Given the description of an element on the screen output the (x, y) to click on. 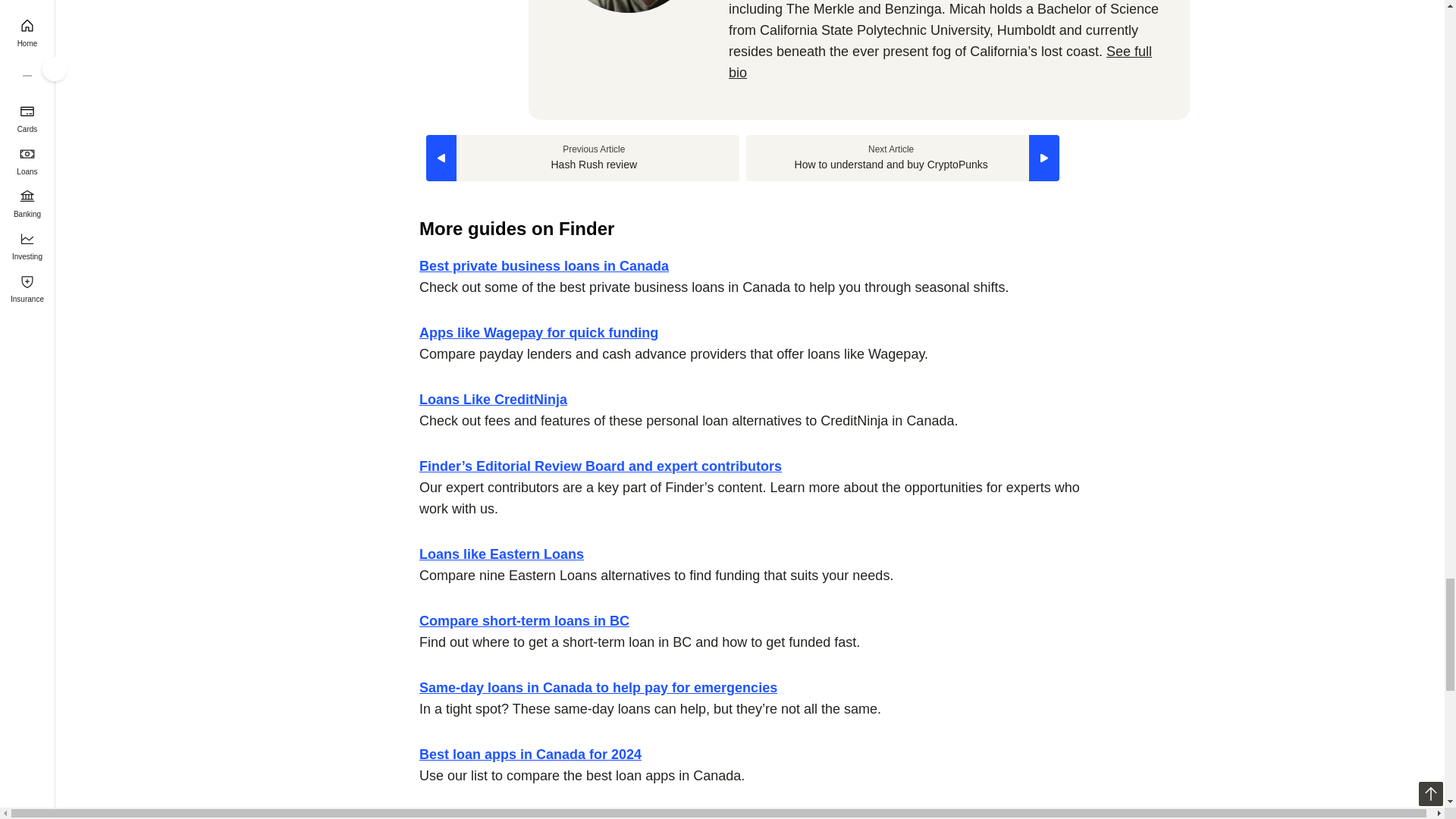
Hash Rush review (582, 157)
How to understand and buy CryptoPunks (902, 157)
